Given the description of an element on the screen output the (x, y) to click on. 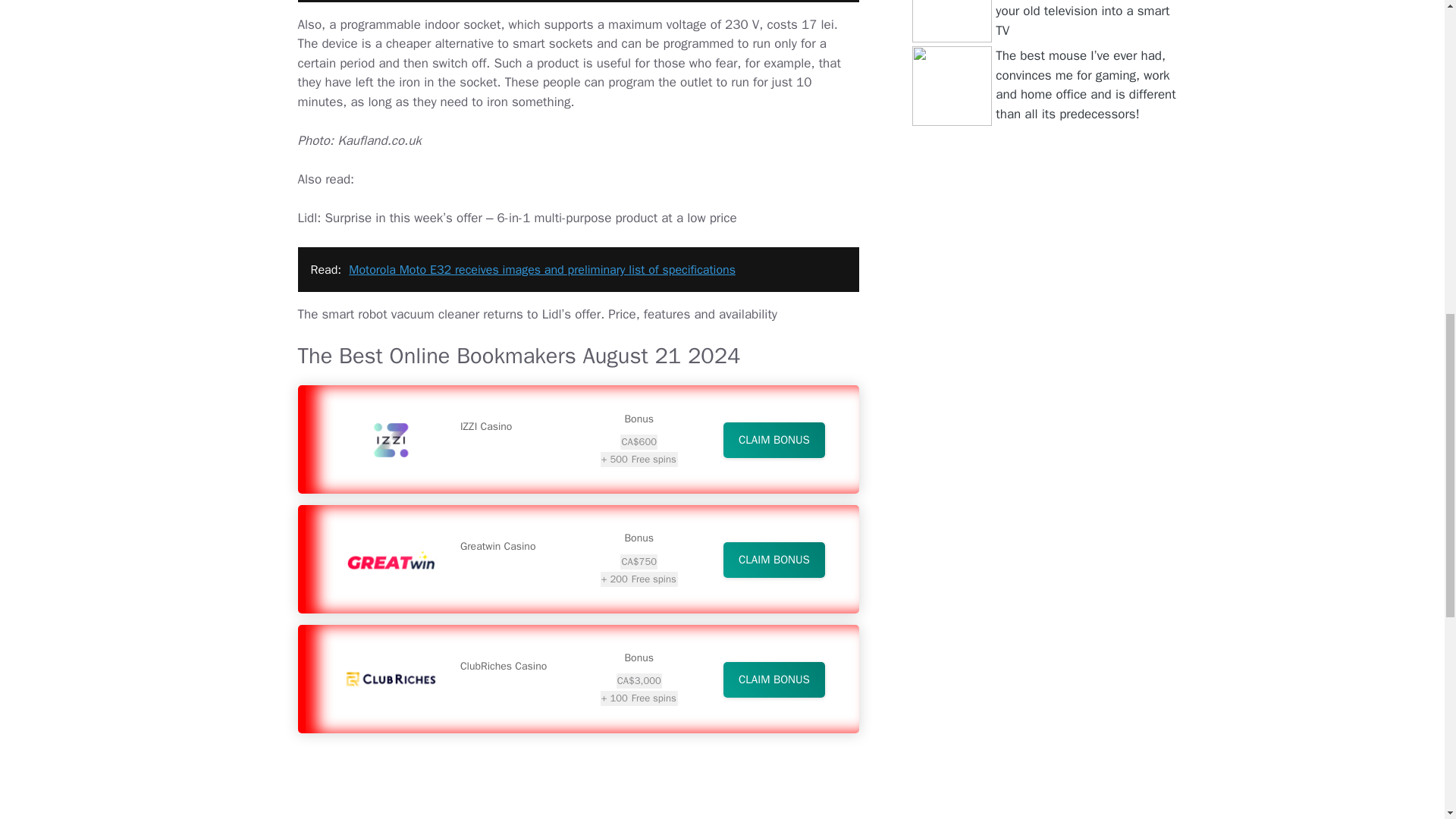
Scroll back to top (1406, 720)
